Given the description of an element on the screen output the (x, y) to click on. 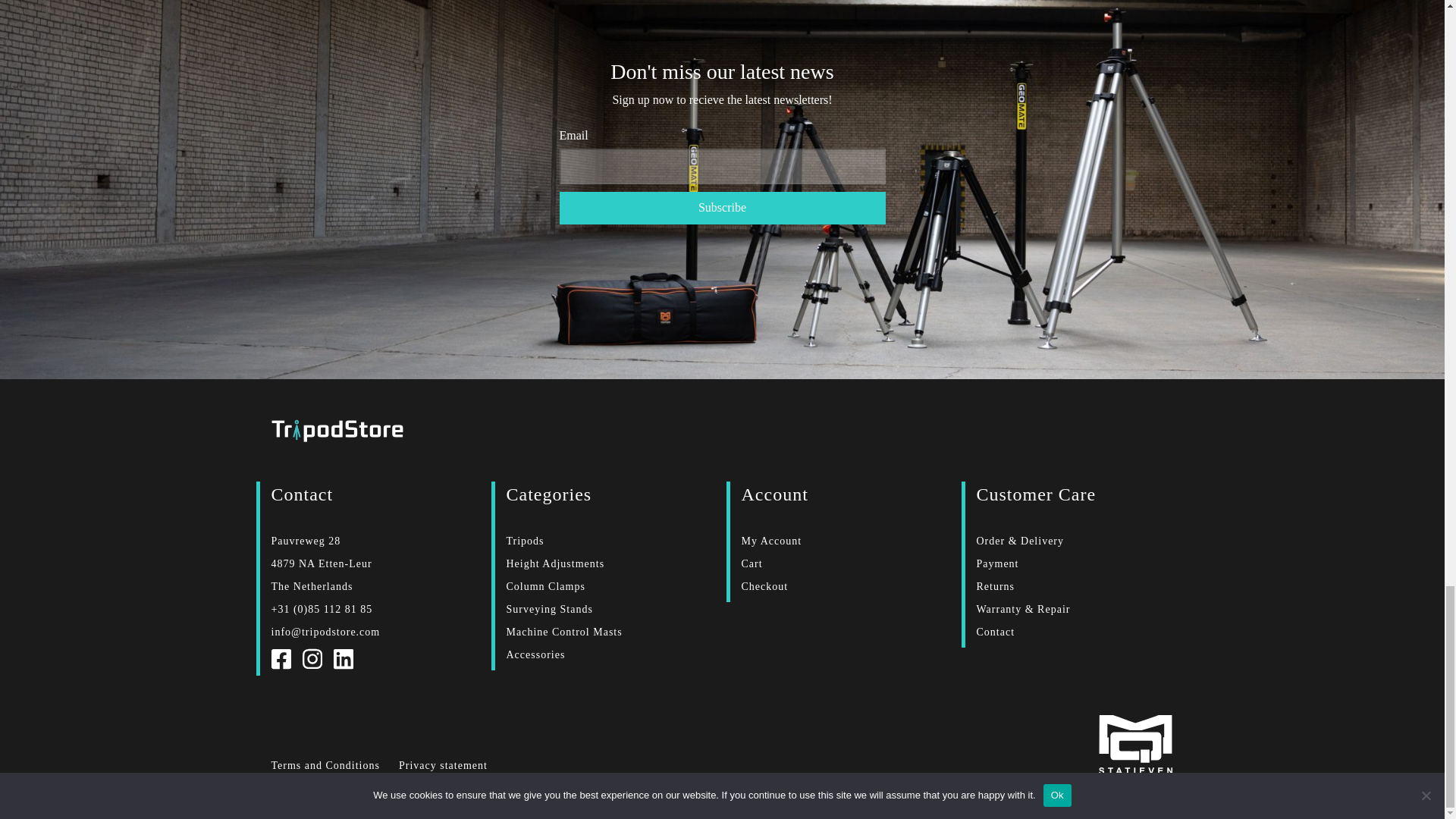
Subscribe (722, 207)
